Given the description of an element on the screen output the (x, y) to click on. 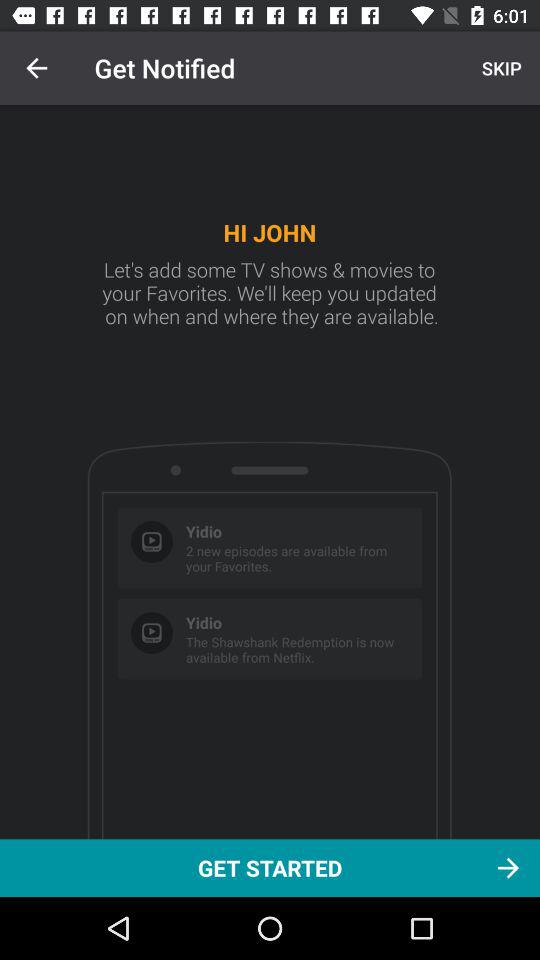
tap icon to the left of get notified icon (36, 68)
